Given the description of an element on the screen output the (x, y) to click on. 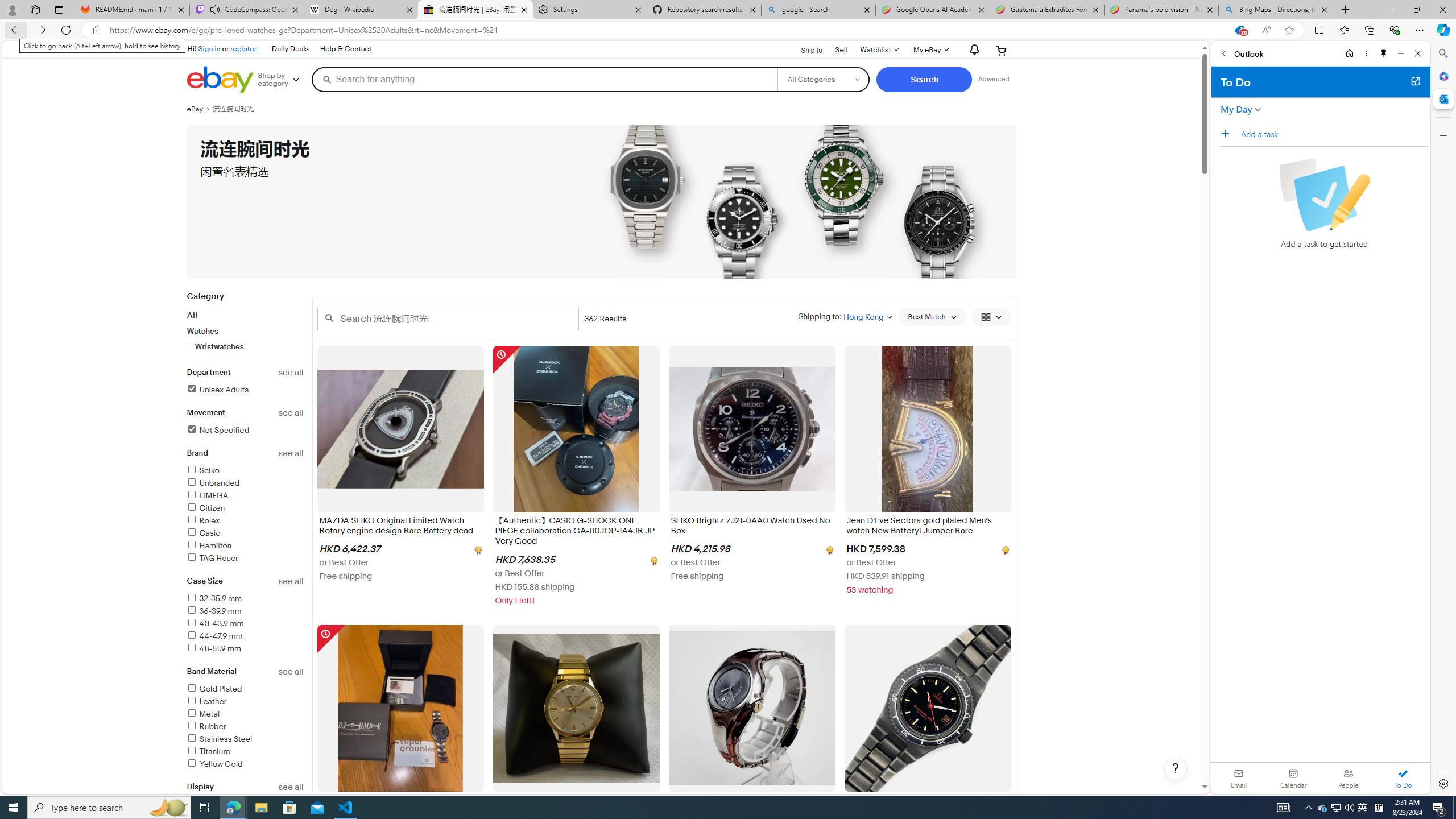
Seiko (245, 471)
Google Opens AI Academy for Startups - Nearshore Americas (932, 9)
36-39.9 mm (213, 610)
40-43.9 mm (215, 623)
Daily Deals (290, 49)
Rubber (205, 726)
Rolex (245, 520)
Expand Cart (1001, 49)
Unisex AdultsFilter Applied (245, 389)
Enter your search keyword (448, 318)
Sell (841, 49)
